Given the description of an element on the screen output the (x, y) to click on. 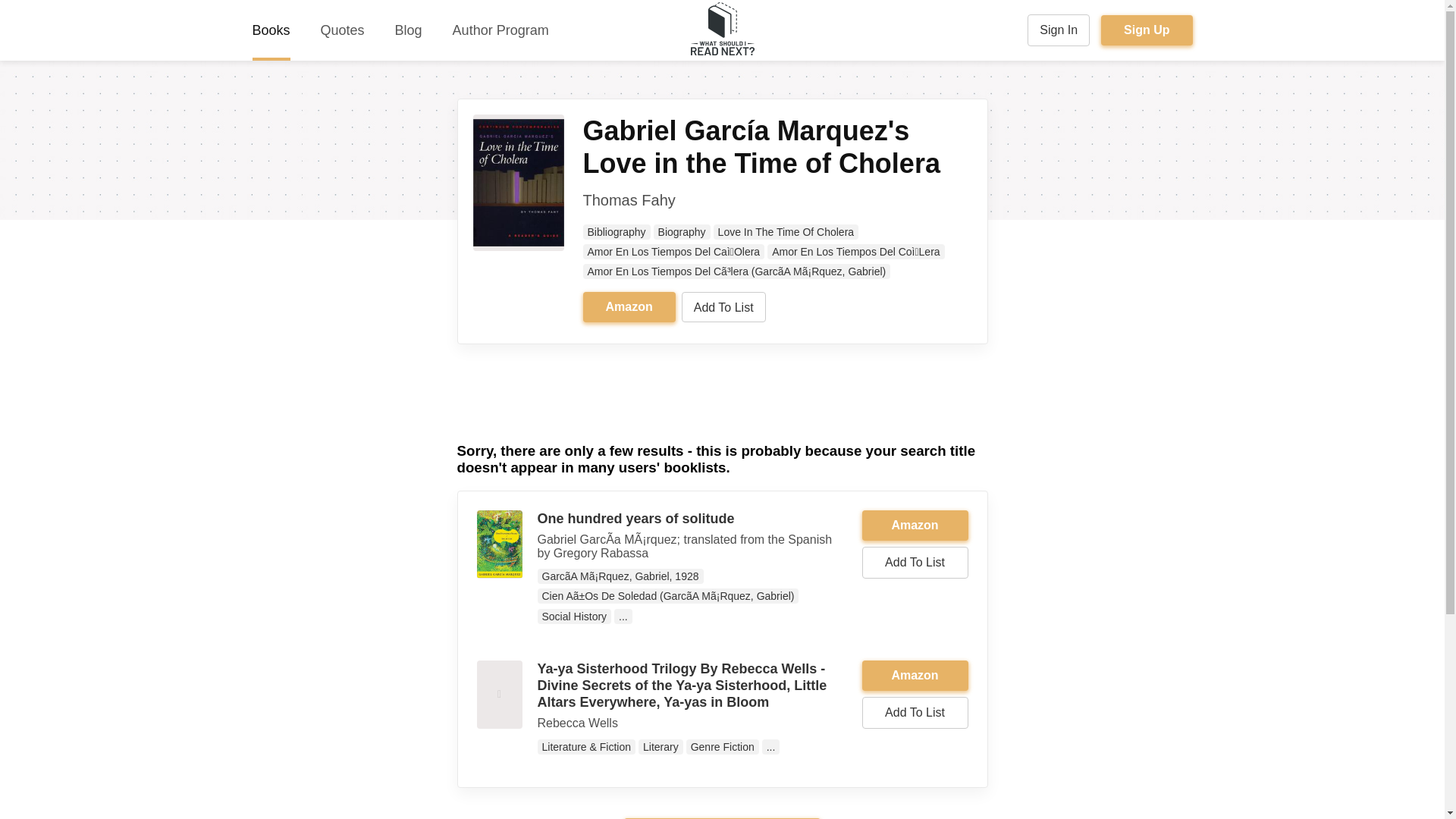
... (622, 616)
Add To List (914, 562)
Amazon (628, 306)
Sign Up (1146, 30)
Literary (660, 746)
Sign In (1058, 29)
One hundred years of solitude (635, 518)
Add To List (723, 306)
... (770, 746)
